Given the description of an element on the screen output the (x, y) to click on. 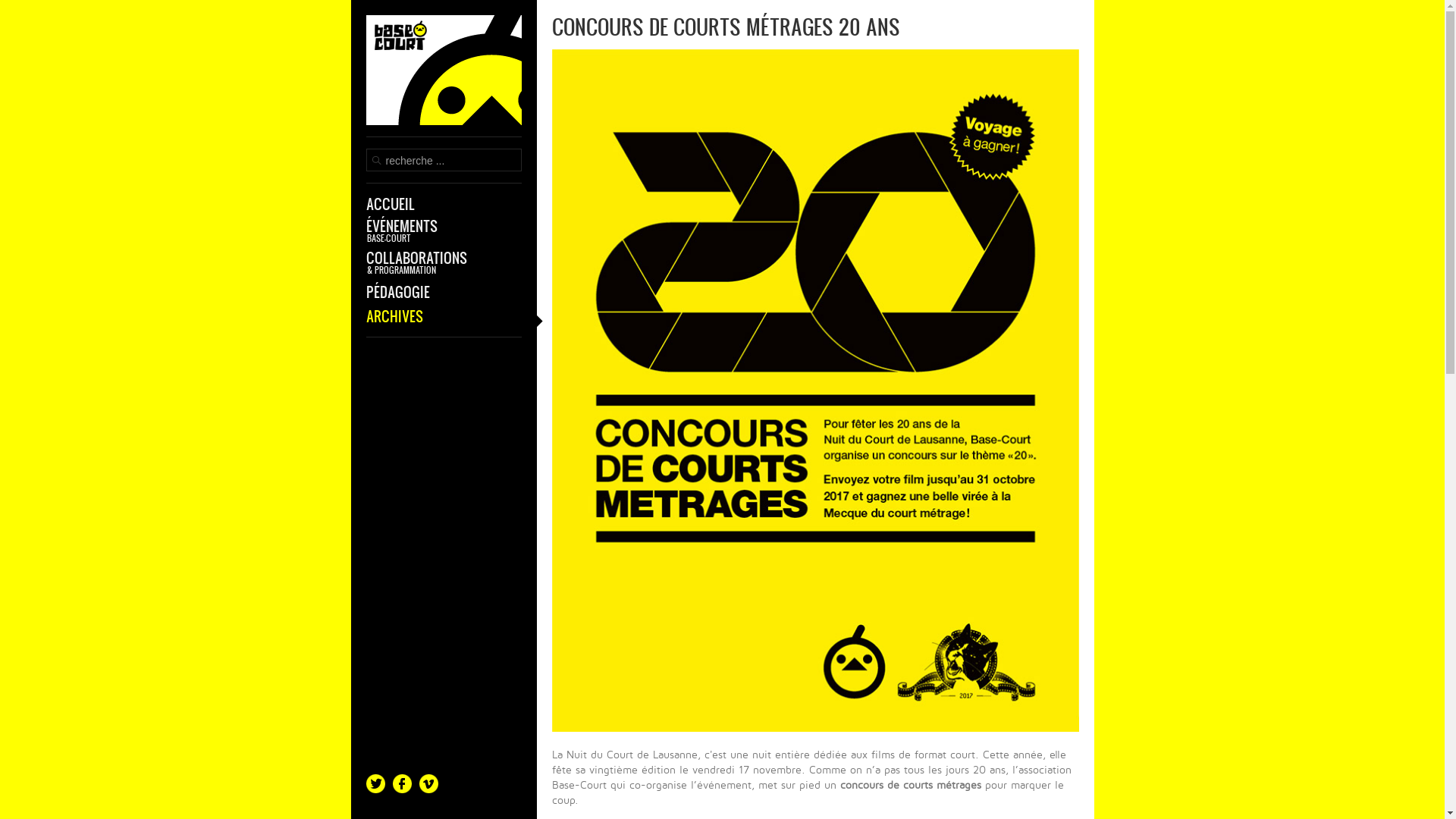
COLLABORATIONS
& PROGRAMMATION Element type: text (442, 262)
ARCHIVES Element type: text (442, 316)
ACCUEIL Element type: text (442, 203)
  Element type: text (442, 76)
Reset Element type: text (3, 3)
